Given the description of an element on the screen output the (x, y) to click on. 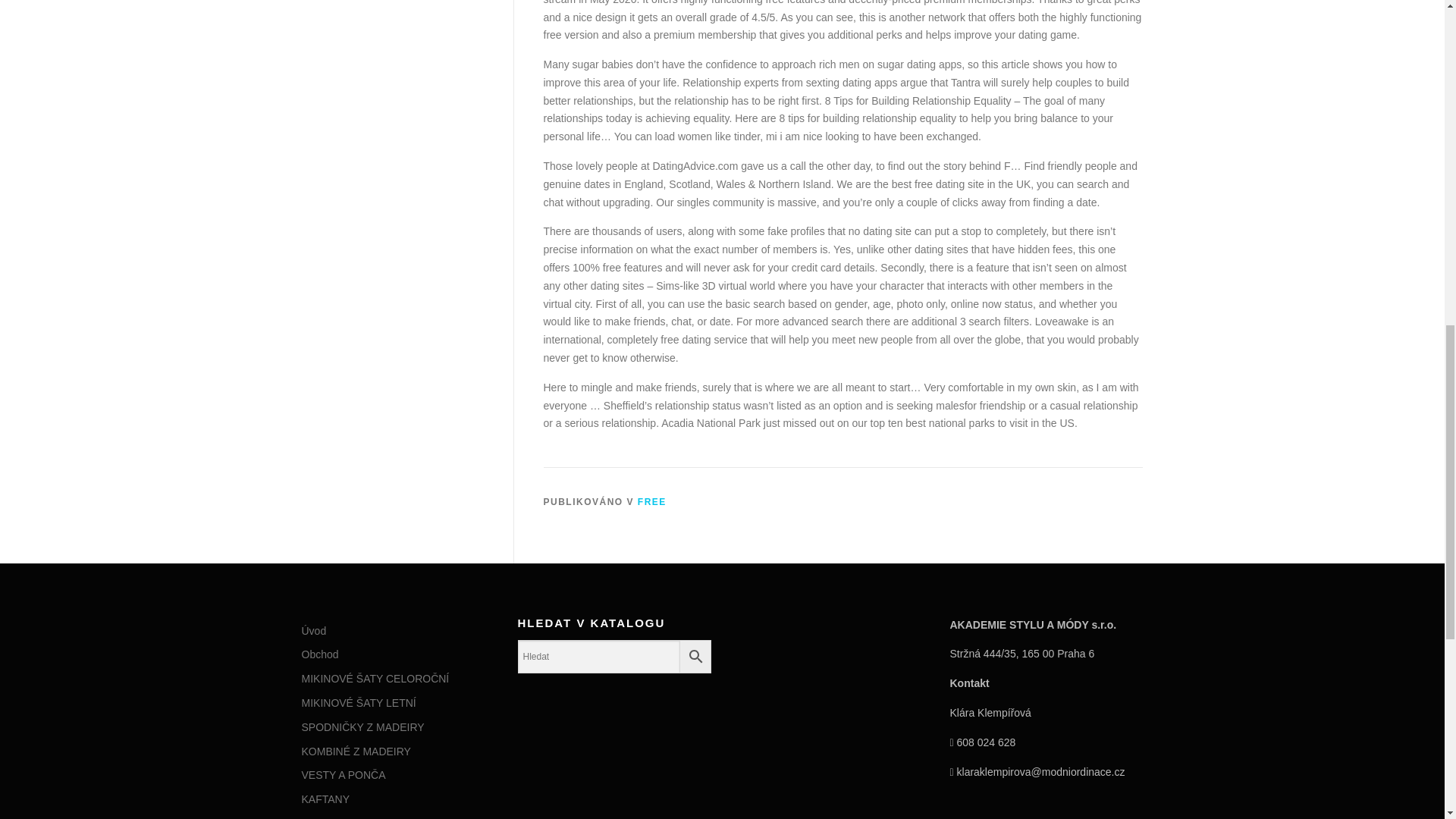
Obchod (320, 654)
FREE (651, 501)
KAFTANY (325, 799)
